Given the description of an element on the screen output the (x, y) to click on. 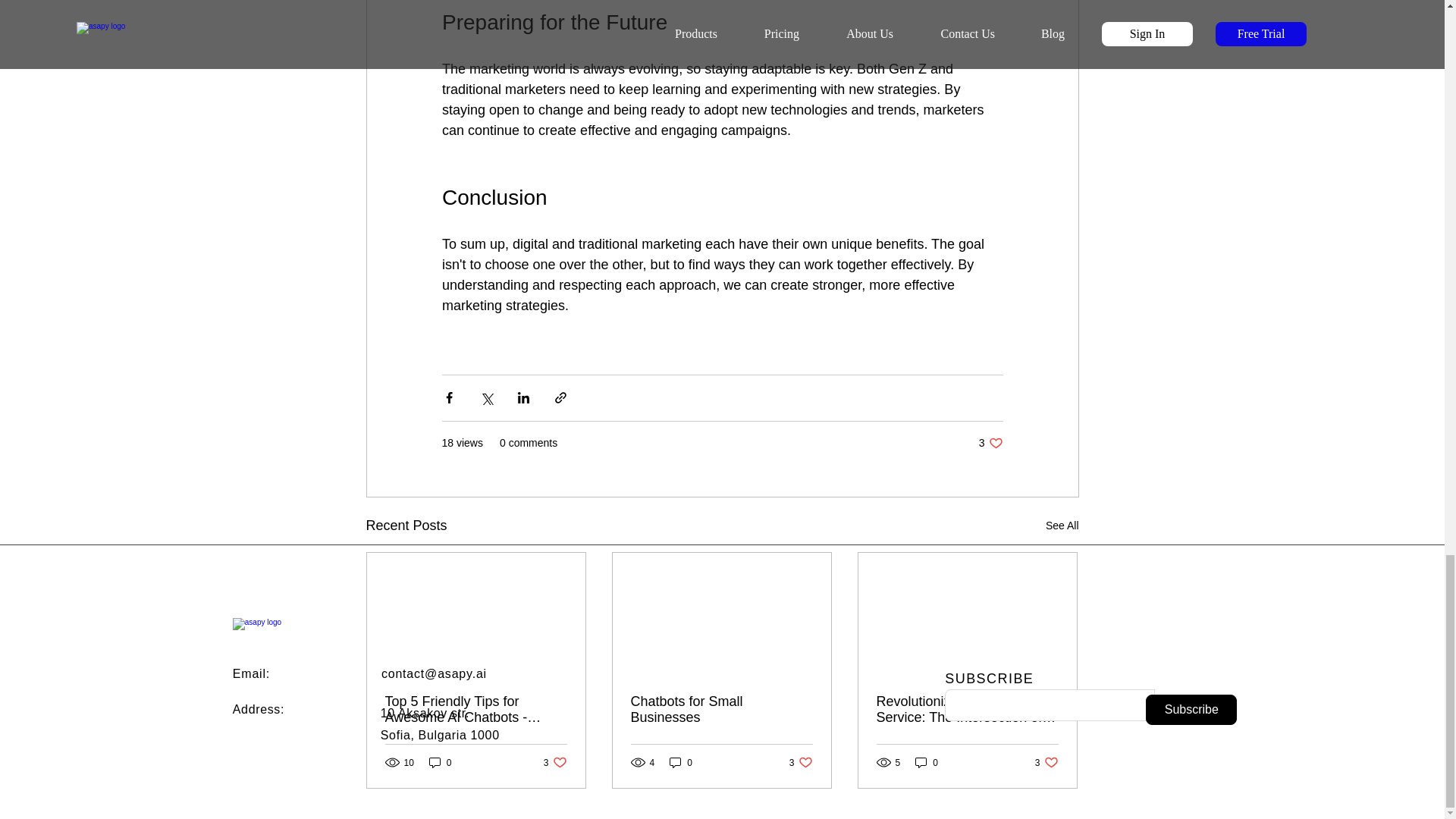
0 (555, 762)
Address: (681, 762)
Subscribe (990, 442)
See All (257, 708)
